Given the description of an element on the screen output the (x, y) to click on. 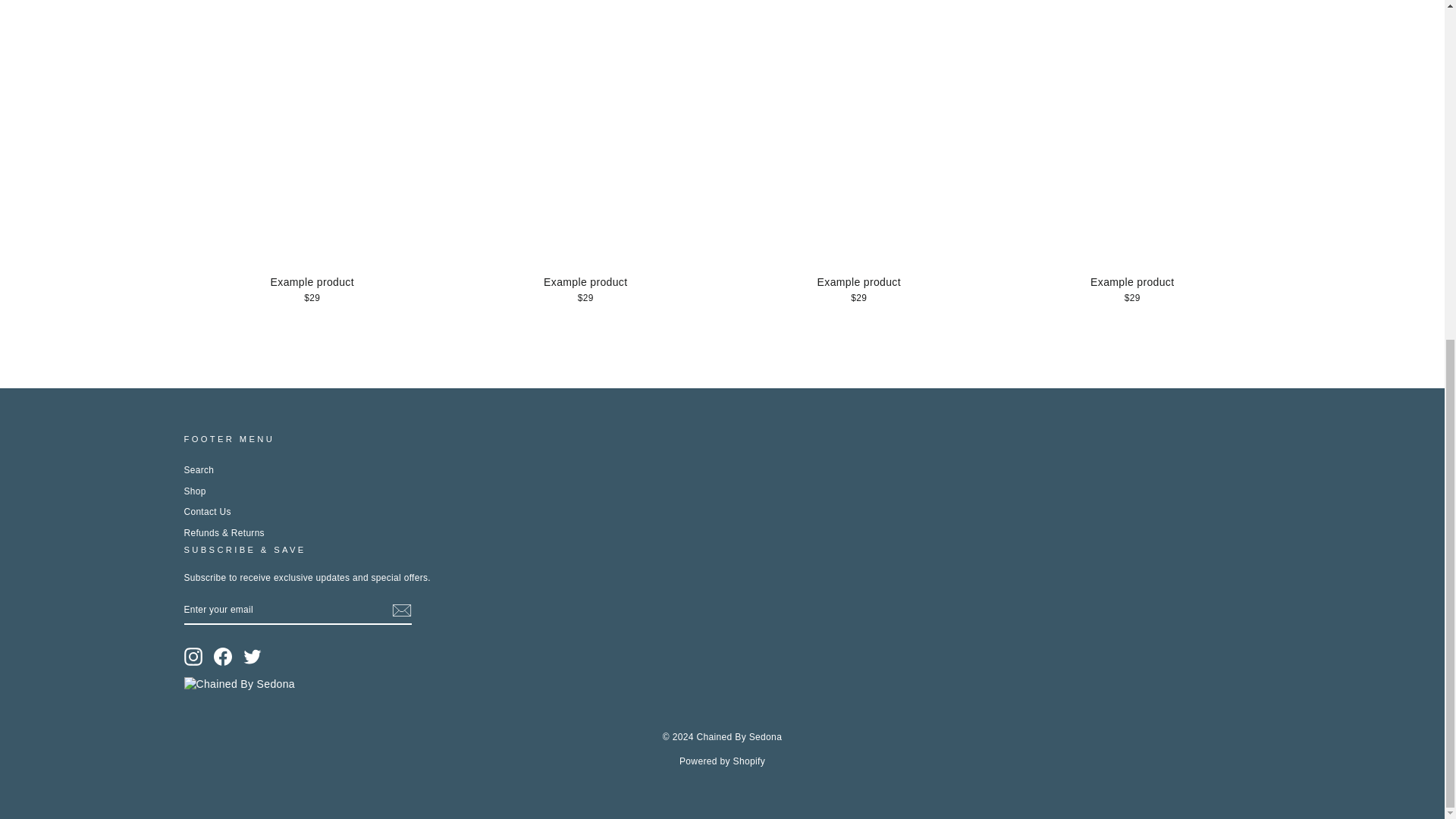
Chained By Sedona on Twitter (251, 656)
Chained By Sedona on Facebook (222, 656)
Chained By Sedona on Instagram (192, 656)
